Given the description of an element on the screen output the (x, y) to click on. 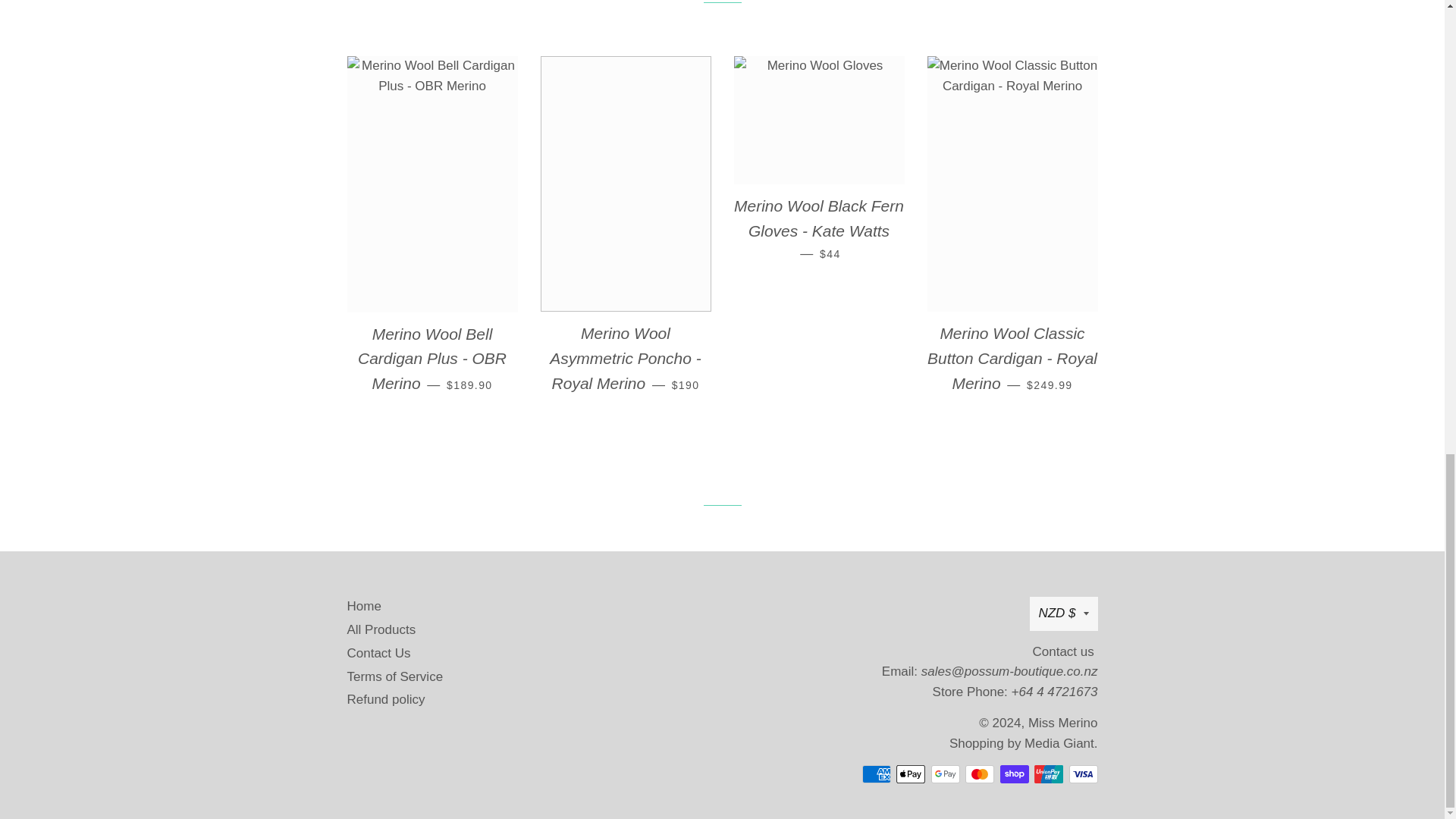
Google Pay (945, 773)
Mastercard (979, 773)
Union Pay (1047, 773)
American Express (875, 773)
Shop Pay (1012, 773)
Apple Pay (910, 773)
- Contact Us (1009, 671)
Visa (1082, 773)
